Given the description of an element on the screen output the (x, y) to click on. 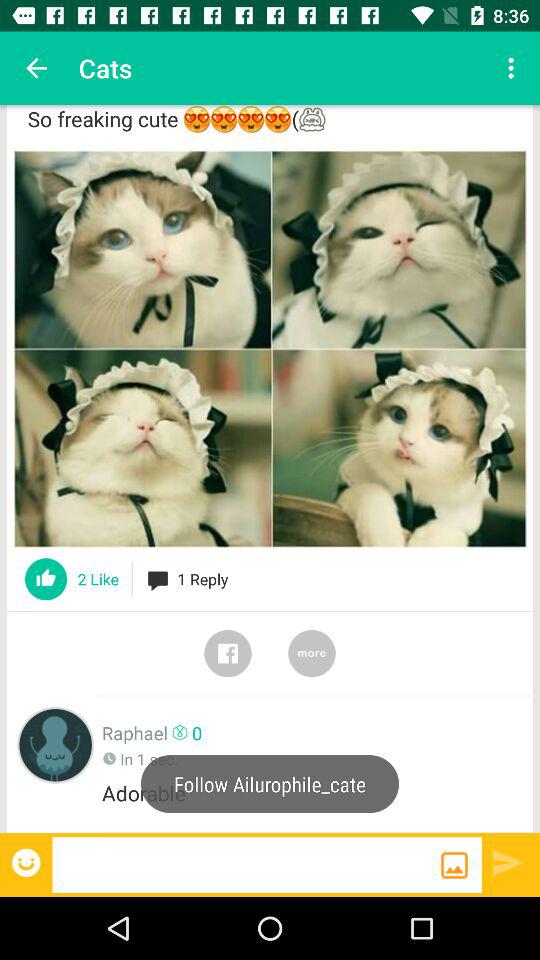
insert image (454, 865)
